Given the description of an element on the screen output the (x, y) to click on. 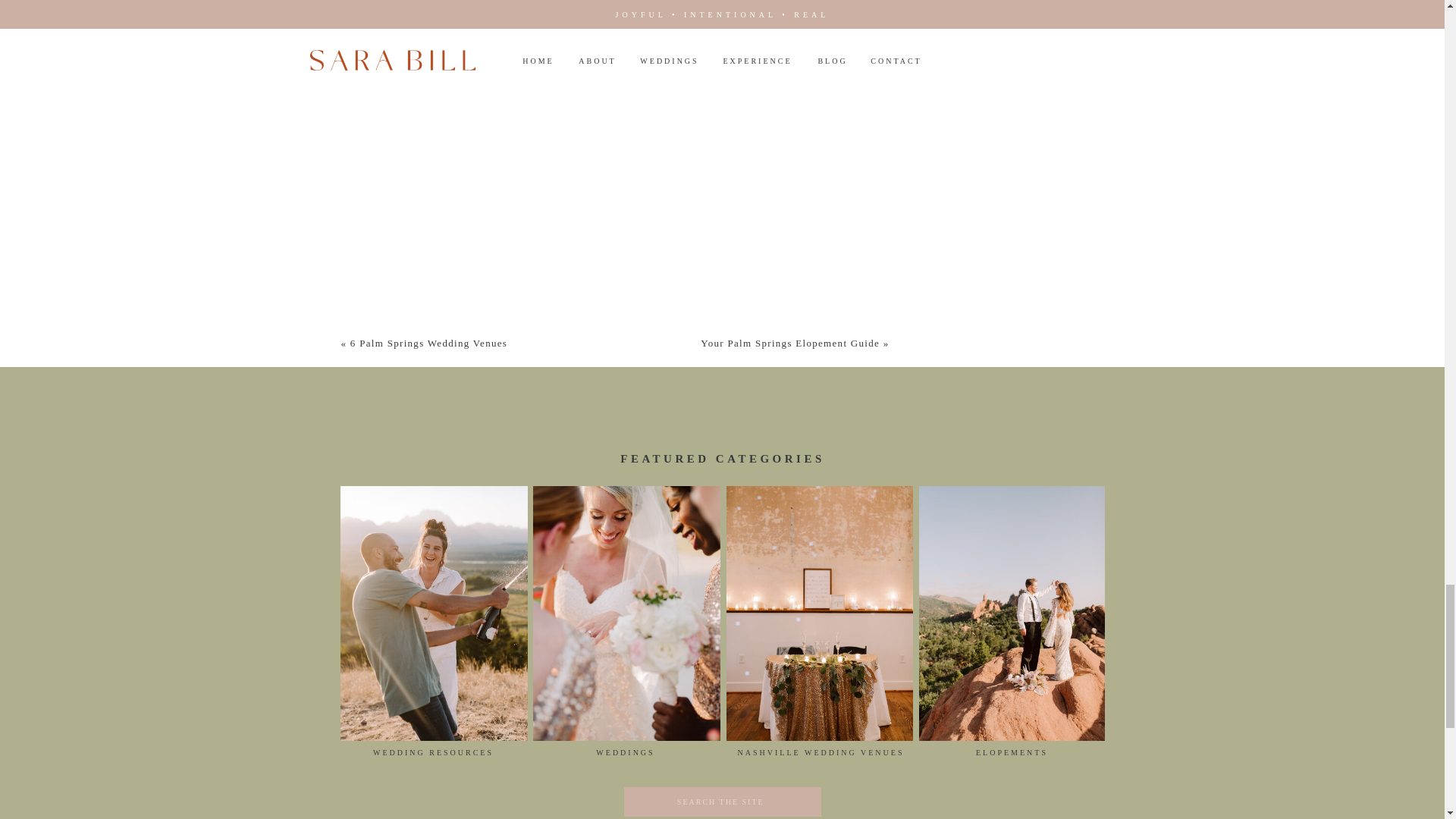
ELOPEMENTS (1010, 754)
6 Palm Springs Wedding Venues (428, 342)
Your Palm Springs Elopement Guide (789, 342)
